Given the description of an element on the screen output the (x, y) to click on. 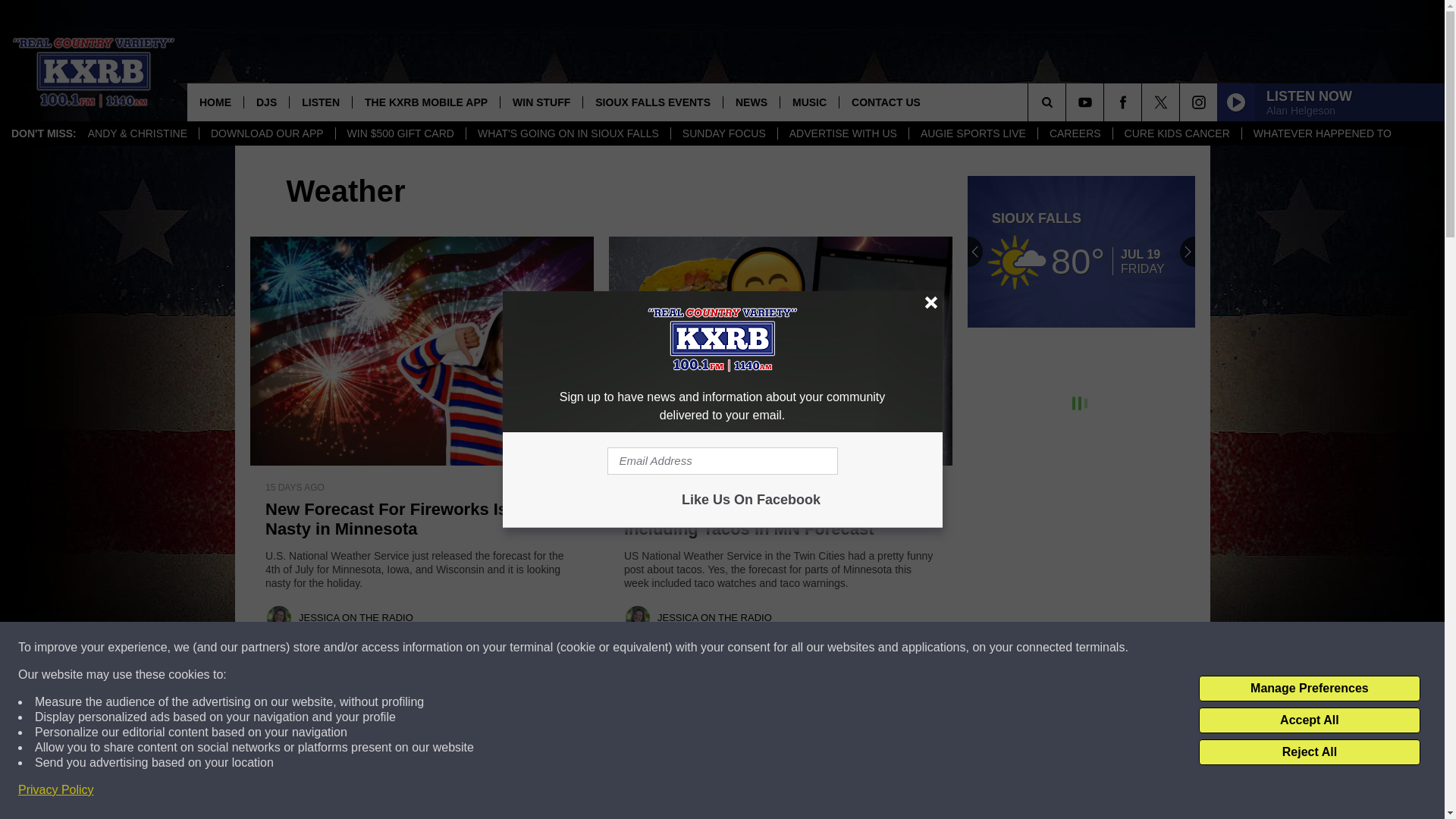
Manage Preferences (1309, 688)
ADVERTISE WITH US (842, 133)
SEARCH (1068, 102)
DOWNLOAD OUR APP (266, 133)
WHATEVER HAPPENED TO (1322, 133)
WHAT'S GOING ON IN SIOUX FALLS (567, 133)
LISTEN (320, 102)
Accept All (1309, 720)
Sioux Falls Weather (1081, 251)
Reject All (1309, 751)
THE KXRB MOBILE APP (425, 102)
CAREERS (1074, 133)
SEARCH (1068, 102)
HOME (215, 102)
DJS (265, 102)
